Given the description of an element on the screen output the (x, y) to click on. 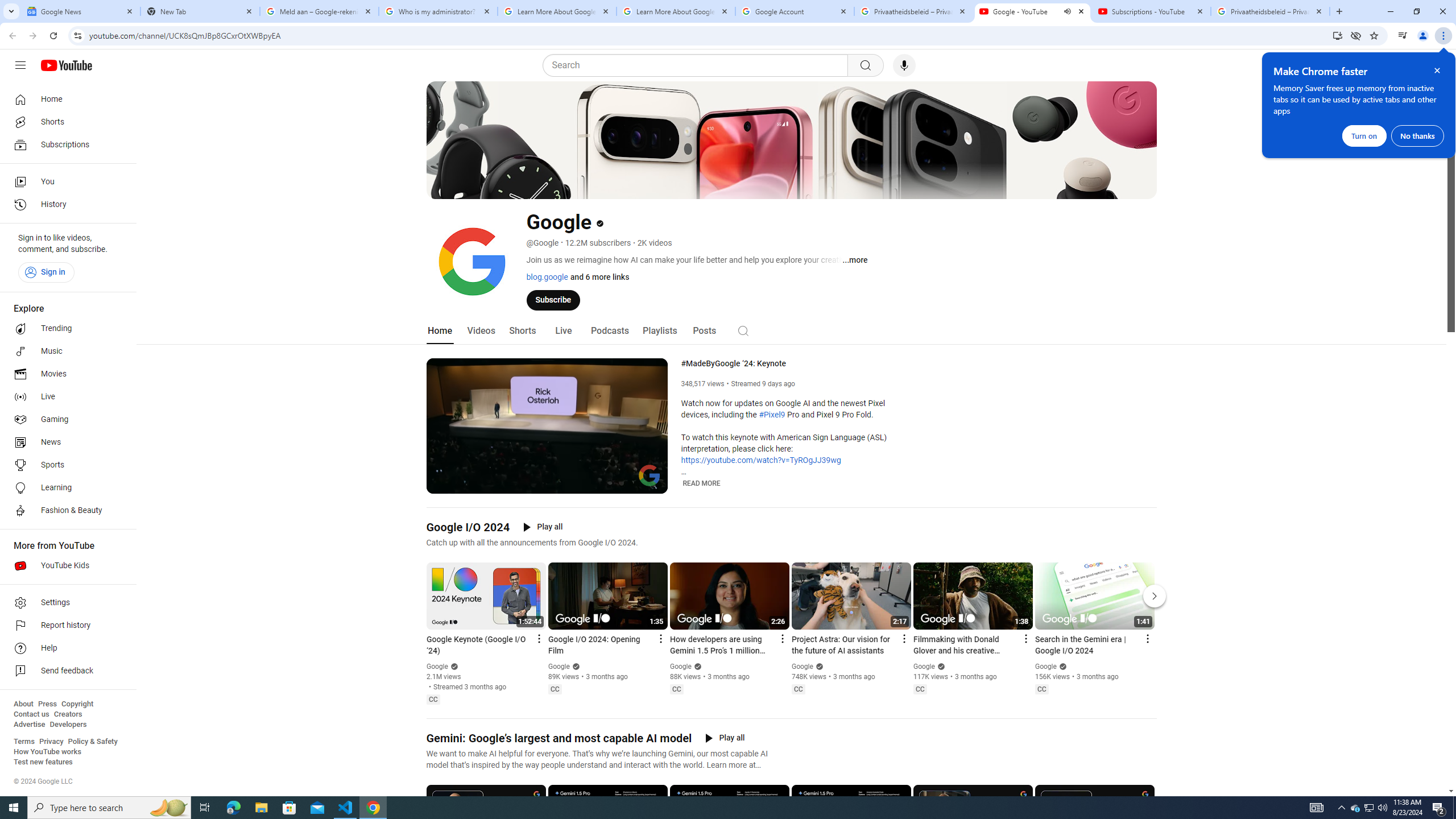
Trending (64, 328)
Learning (64, 487)
Install YouTube (1336, 35)
Shorts (521, 330)
Close help bubble (1436, 69)
